Given the description of an element on the screen output the (x, y) to click on. 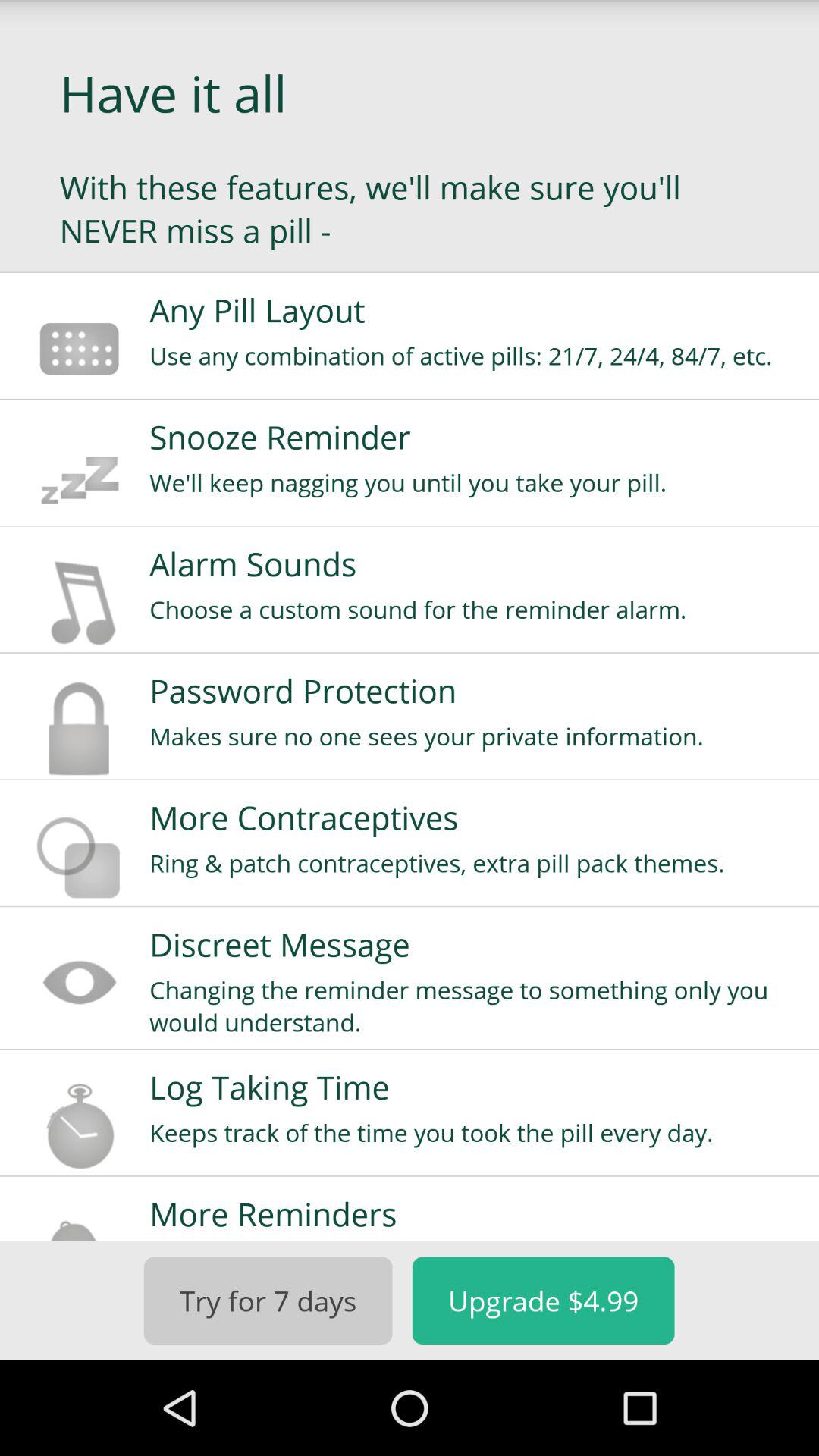
scroll to with these features (409, 208)
